Given the description of an element on the screen output the (x, y) to click on. 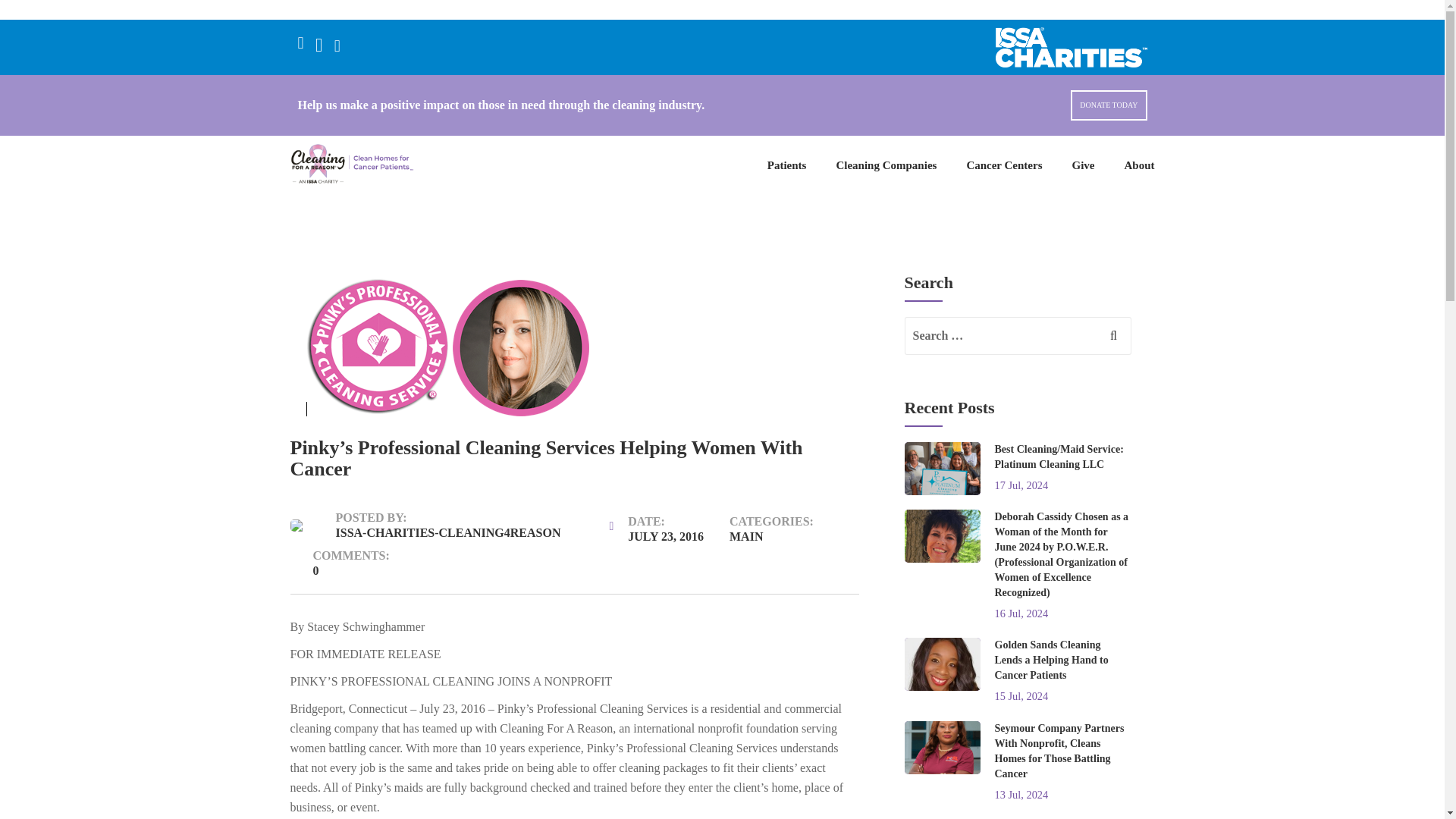
Post in category (782, 527)
Cleaning Companies (885, 164)
DONATE TODAY (1108, 105)
Comment (338, 561)
Post date (656, 527)
Post by (436, 525)
Search (1105, 343)
Search (1105, 343)
Cancer Centers (1004, 164)
